Given the description of an element on the screen output the (x, y) to click on. 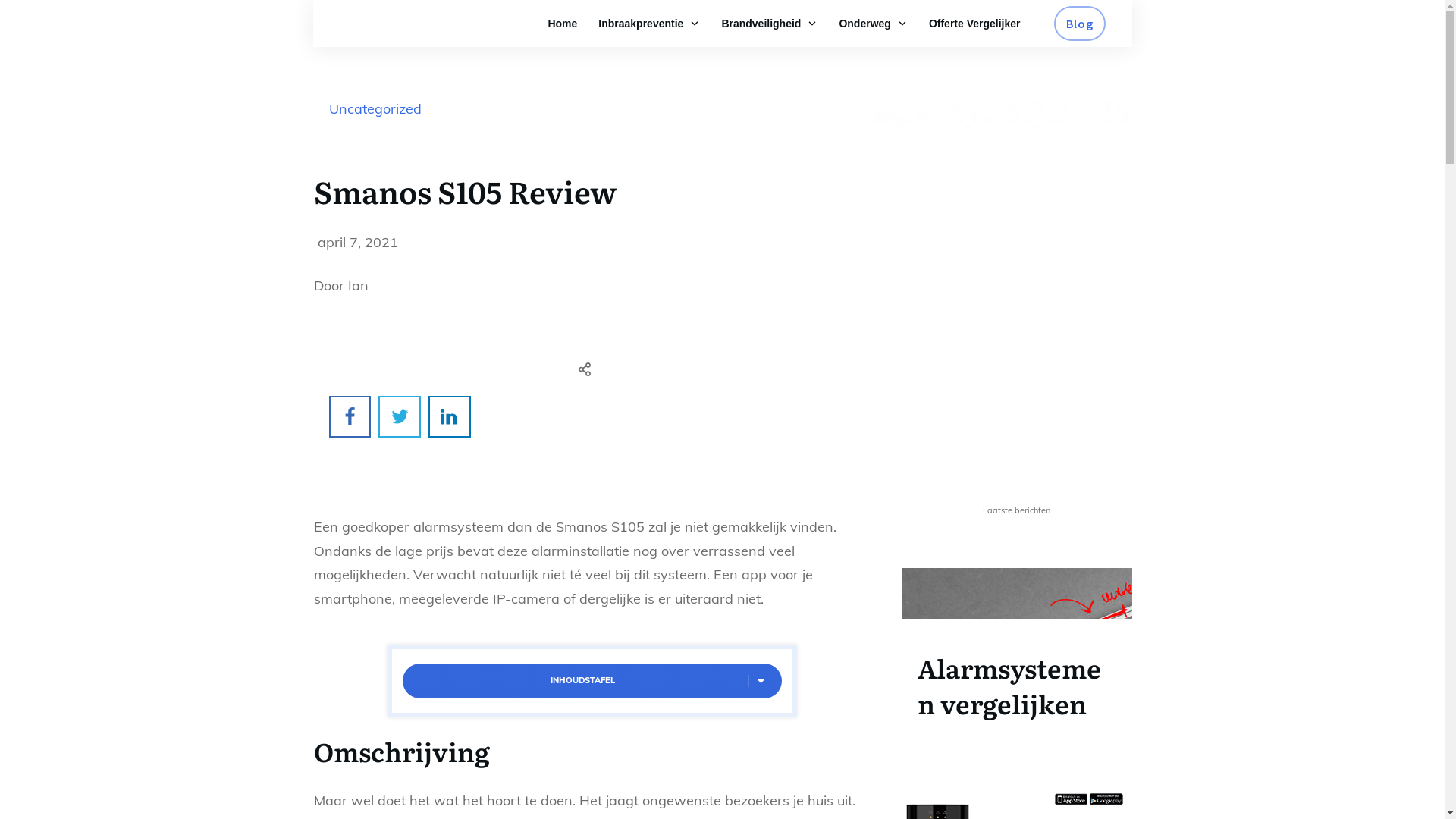
Inbraakpreventie Element type: text (648, 23)
Blog Element type: text (1079, 23)
Uncategorized Element type: text (375, 108)
Offerte Vergelijker Element type: text (974, 23)
Alarmsystemen vergelijken Element type: text (1009, 685)
Onderweg Element type: text (872, 23)
Home Element type: text (562, 23)
Brandveiligheid Element type: text (769, 23)
Alarmsystemen vergelijken Element type: text (1015, 661)
